Given the description of an element on the screen output the (x, y) to click on. 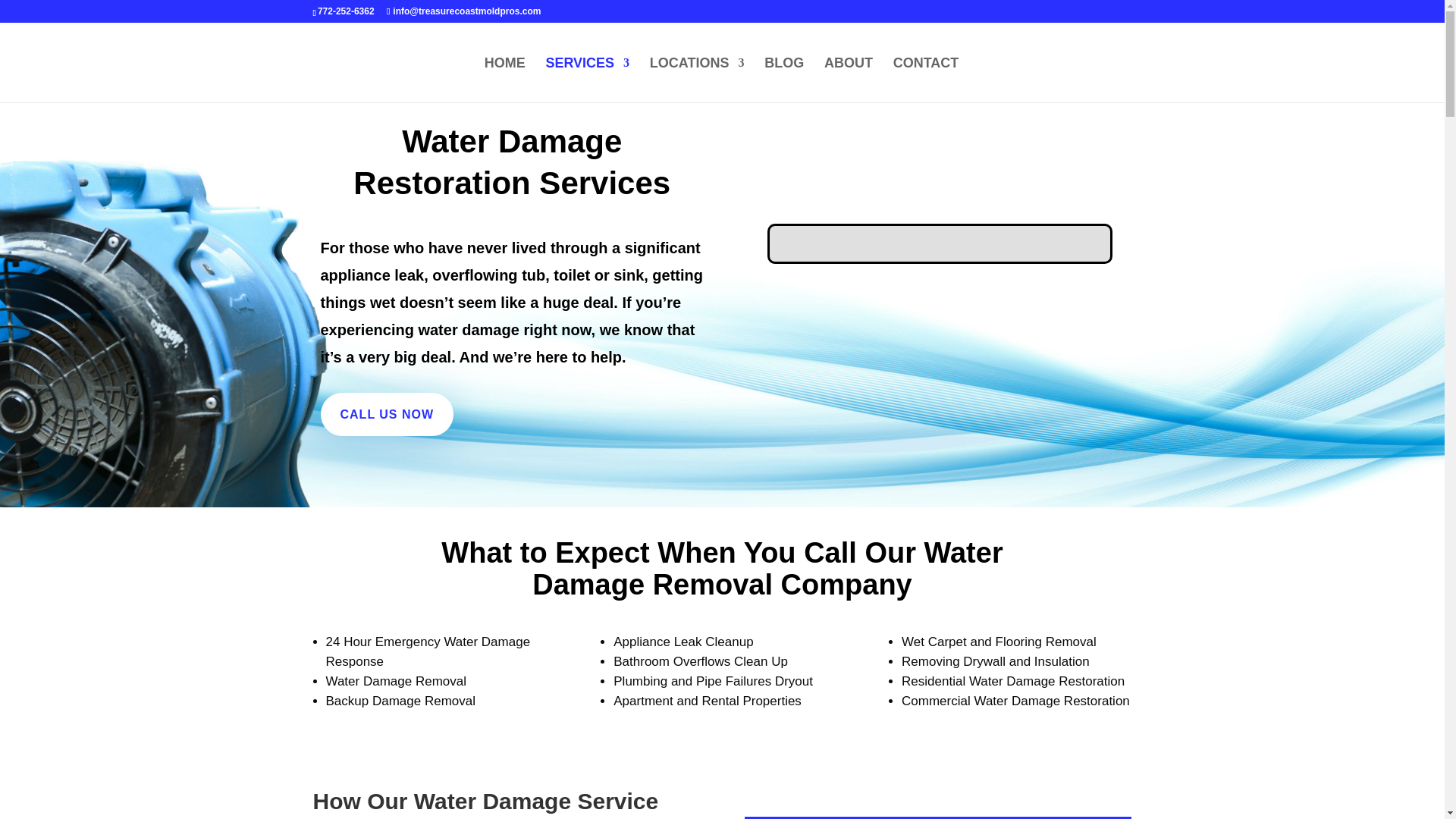
ABOUT (848, 79)
LOCATIONS (696, 79)
CALL US NOW (386, 414)
SERVICES (586, 79)
HOME (504, 79)
CONTACT (926, 79)
